Given the description of an element on the screen output the (x, y) to click on. 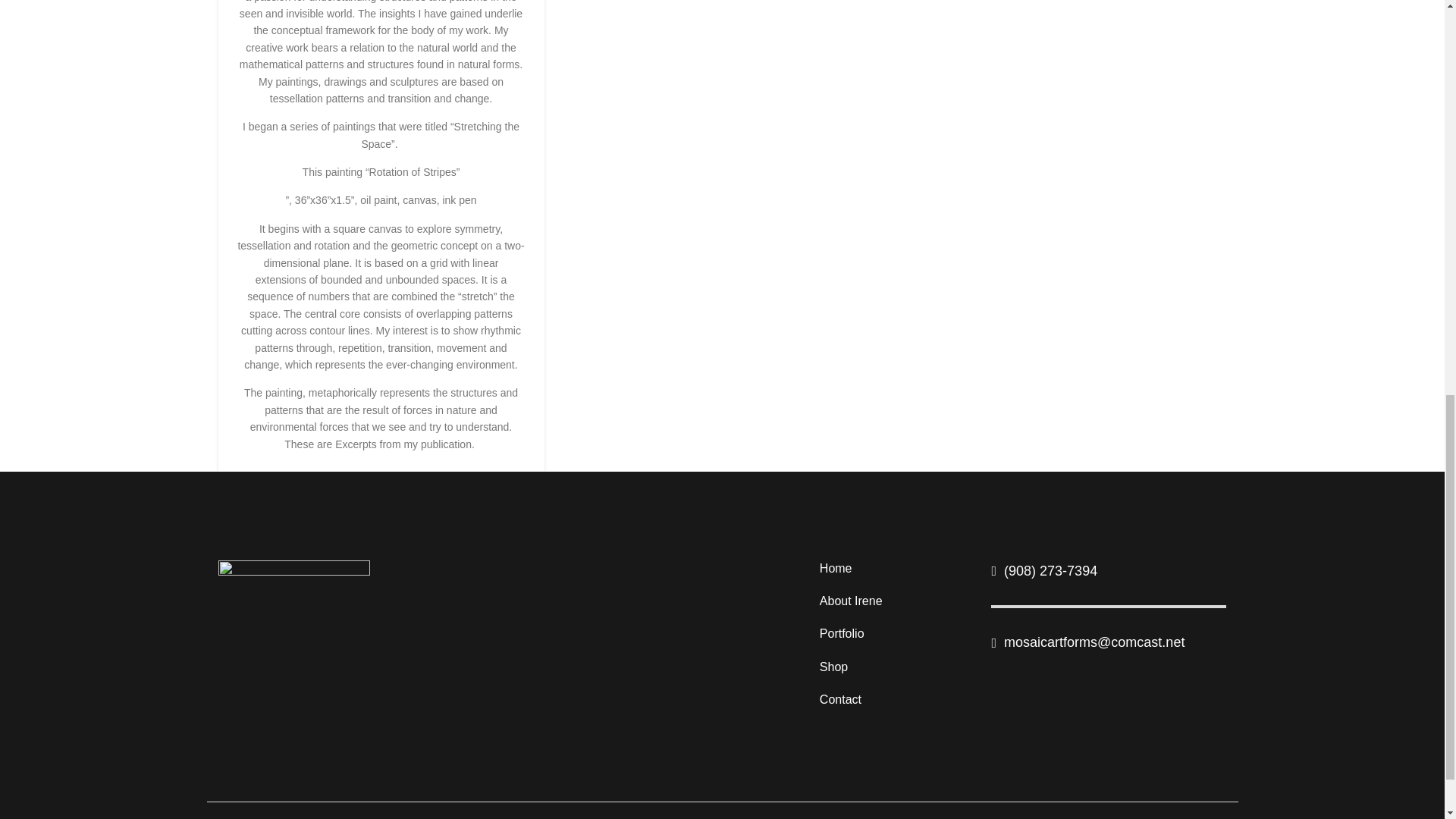
Home  (894, 571)
About Irene (894, 604)
Shop (894, 670)
Contact (894, 702)
Portfolio  (894, 637)
